Given the description of an element on the screen output the (x, y) to click on. 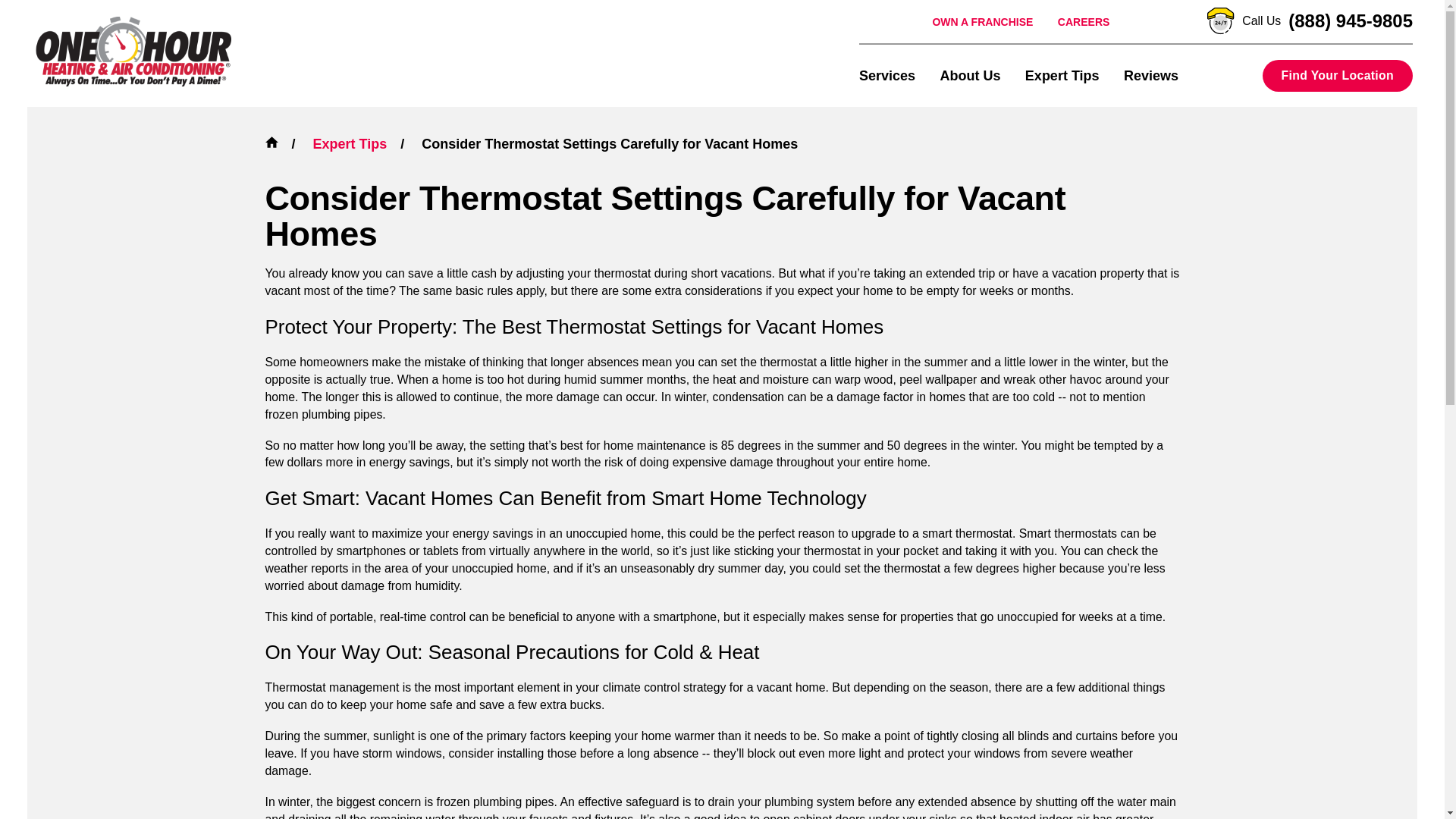
CAREERS (1083, 21)
Services (887, 75)
OWN A FRANCHISE (981, 21)
